Given the description of an element on the screen output the (x, y) to click on. 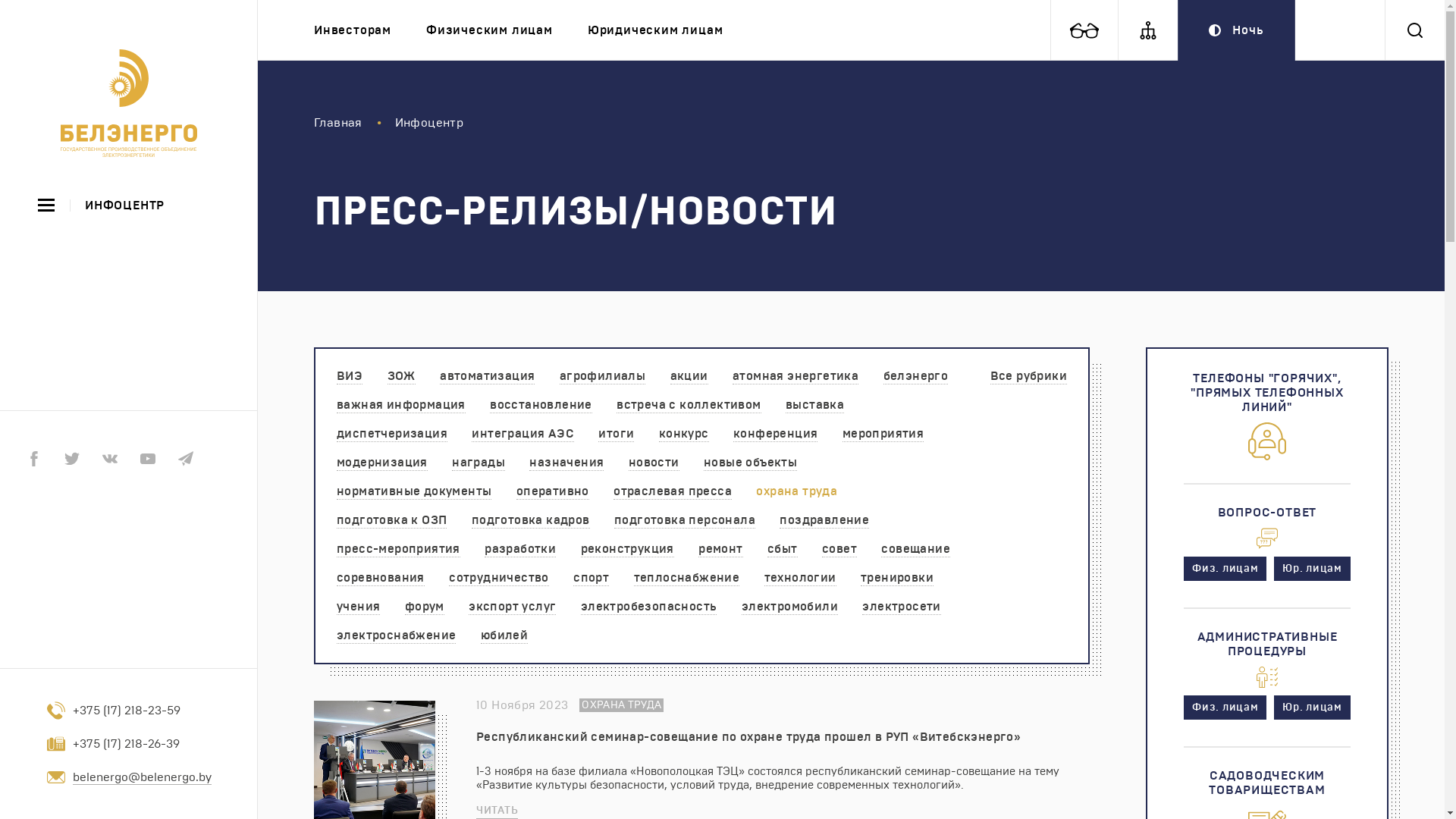
Instagram Element type: text (223, 458)
belenergo@belenergo.by Element type: text (141, 777)
Youtube Element type: text (147, 458)
Twitter Element type: text (71, 458)
Telegram Element type: text (185, 458)
Facebook Element type: text (33, 458)
+375 (17) 218-23-59 Element type: text (141, 710)
